Given the description of an element on the screen output the (x, y) to click on. 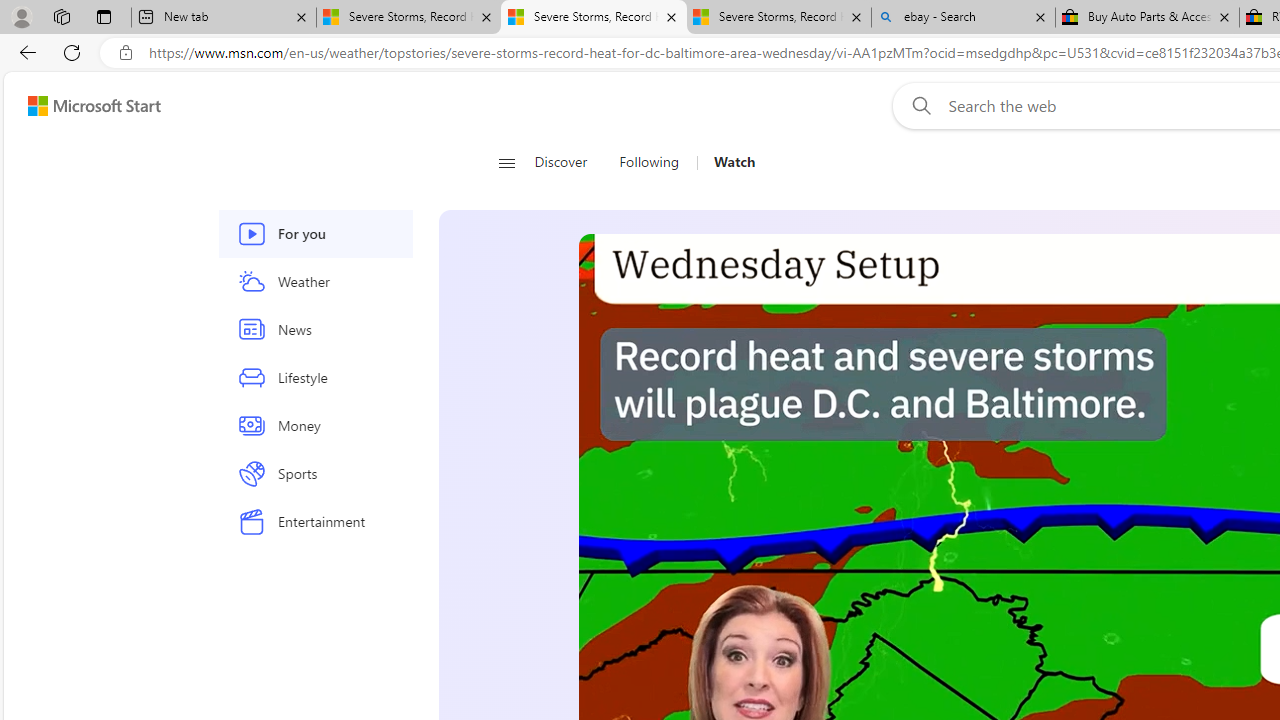
Web search (917, 105)
Buy Auto Parts & Accessories | eBay (1147, 17)
